Given the description of an element on the screen output the (x, y) to click on. 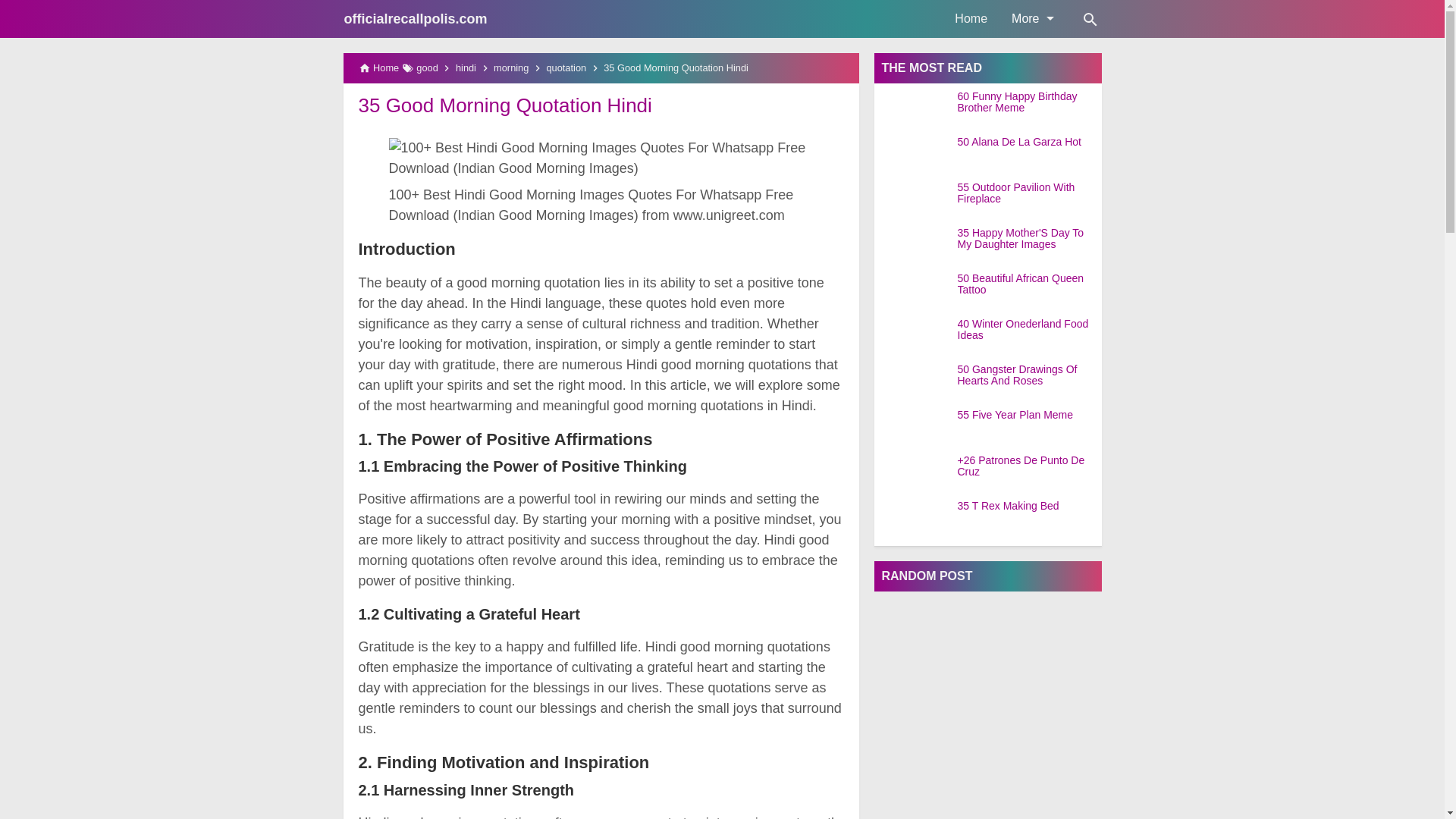
morning (510, 68)
More (1030, 18)
Home (385, 68)
good (427, 68)
quotation (566, 68)
60 Funny Happy Birthday Brother Meme (914, 109)
50 Gangster Drawings Of Hearts And Roses (1028, 375)
60 Funny Happy Birthday Brother Meme (1028, 102)
Home (385, 68)
good (427, 68)
quotation (566, 68)
Home (970, 18)
40 Winter Onederland Food Ideas (1028, 330)
35 Good Morning Quotation Hindi (504, 105)
50 Alana De La Garza Hot (1028, 142)
